Given the description of an element on the screen output the (x, y) to click on. 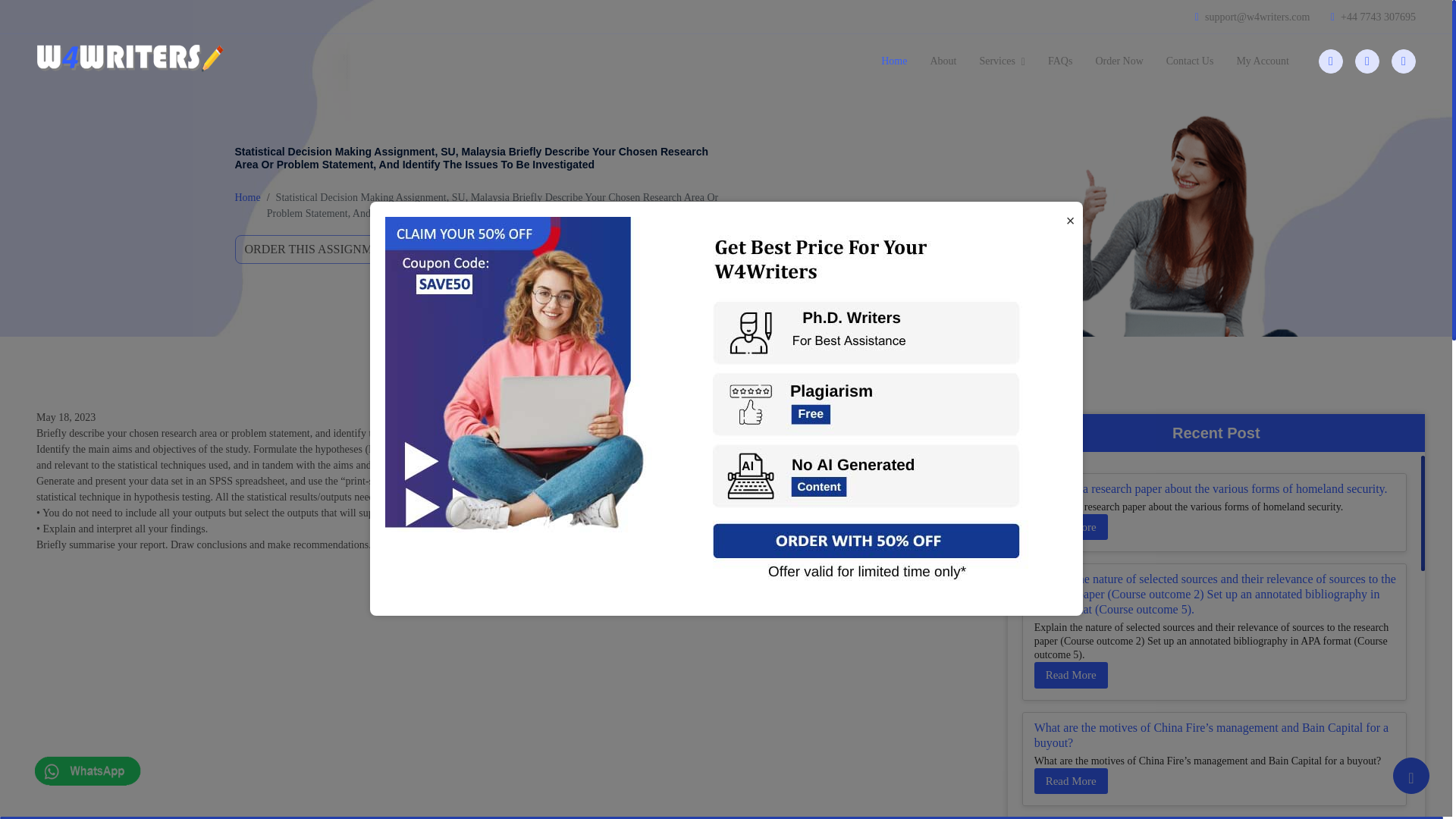
Read More (1070, 527)
About (943, 61)
FAQs (1059, 61)
Read More (1070, 781)
My Account (1262, 61)
Services (1002, 61)
ORDER THIS ASSIGNMENT NOW   (339, 249)
Read More (1070, 674)
Contact Us (1189, 61)
Home (247, 197)
ORDER THIS ASSIGNMENT NOW   (339, 249)
Home (893, 61)
Order Now (1118, 61)
